Given the description of an element on the screen output the (x, y) to click on. 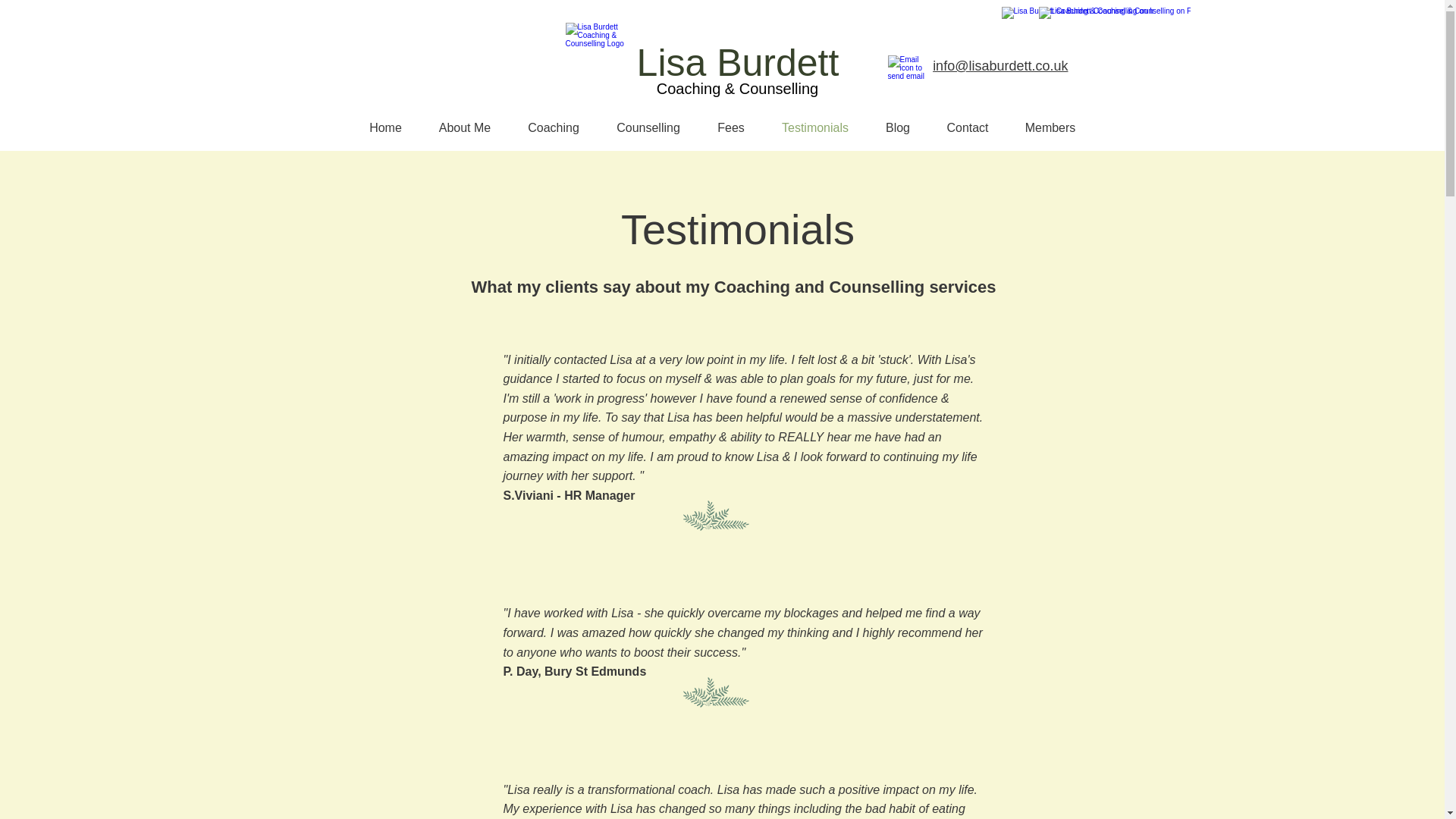
Fees (730, 127)
Lisa Burdett (738, 62)
Email Lisa Burdett (908, 67)
Counselling (647, 127)
Home (385, 127)
Testimonials (814, 127)
Blog (897, 127)
Contact (967, 127)
Members (1050, 127)
Coaching (553, 127)
About Me (464, 127)
